Given the description of an element on the screen output the (x, y) to click on. 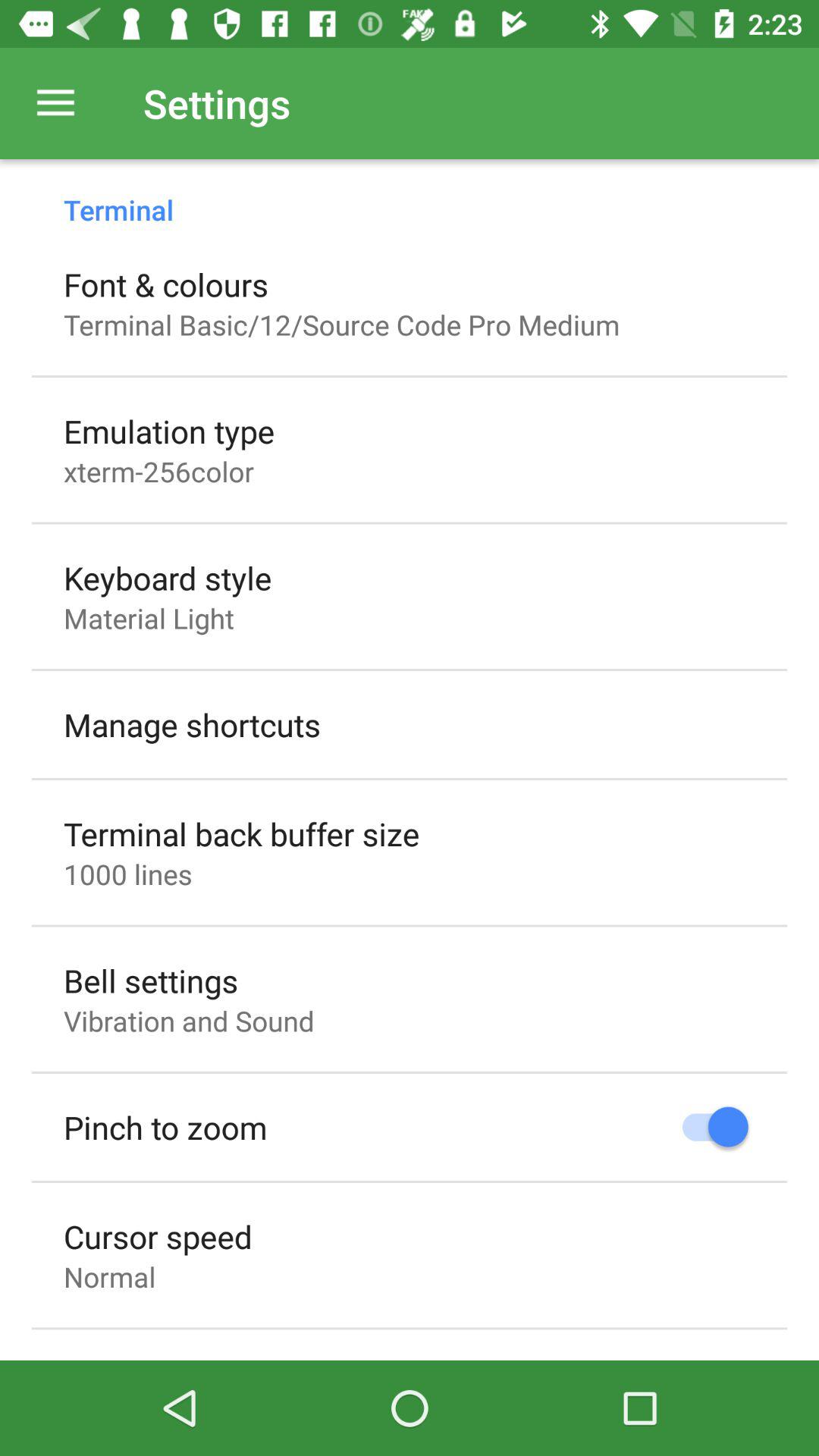
tap the icon to the left of the settings item (55, 103)
